Given the description of an element on the screen output the (x, y) to click on. 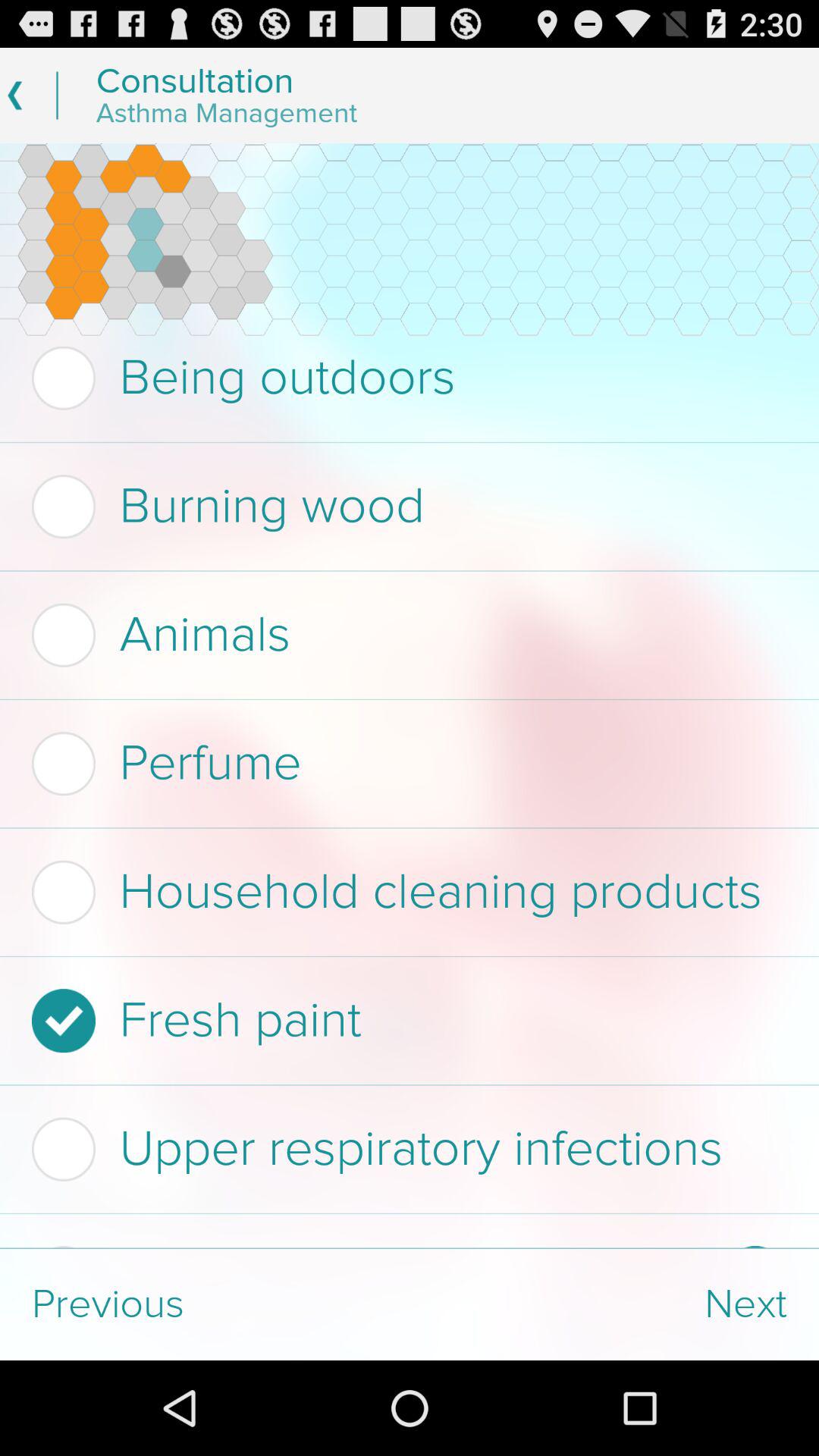
flip to burning wood icon (405, 506)
